Given the description of an element on the screen output the (x, y) to click on. 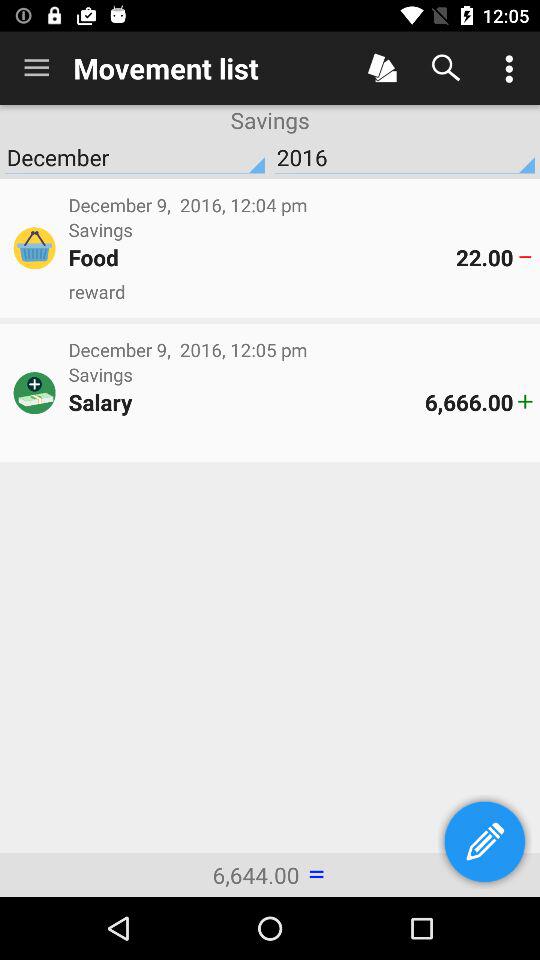
press item below the savings icon (262, 257)
